Given the description of an element on the screen output the (x, y) to click on. 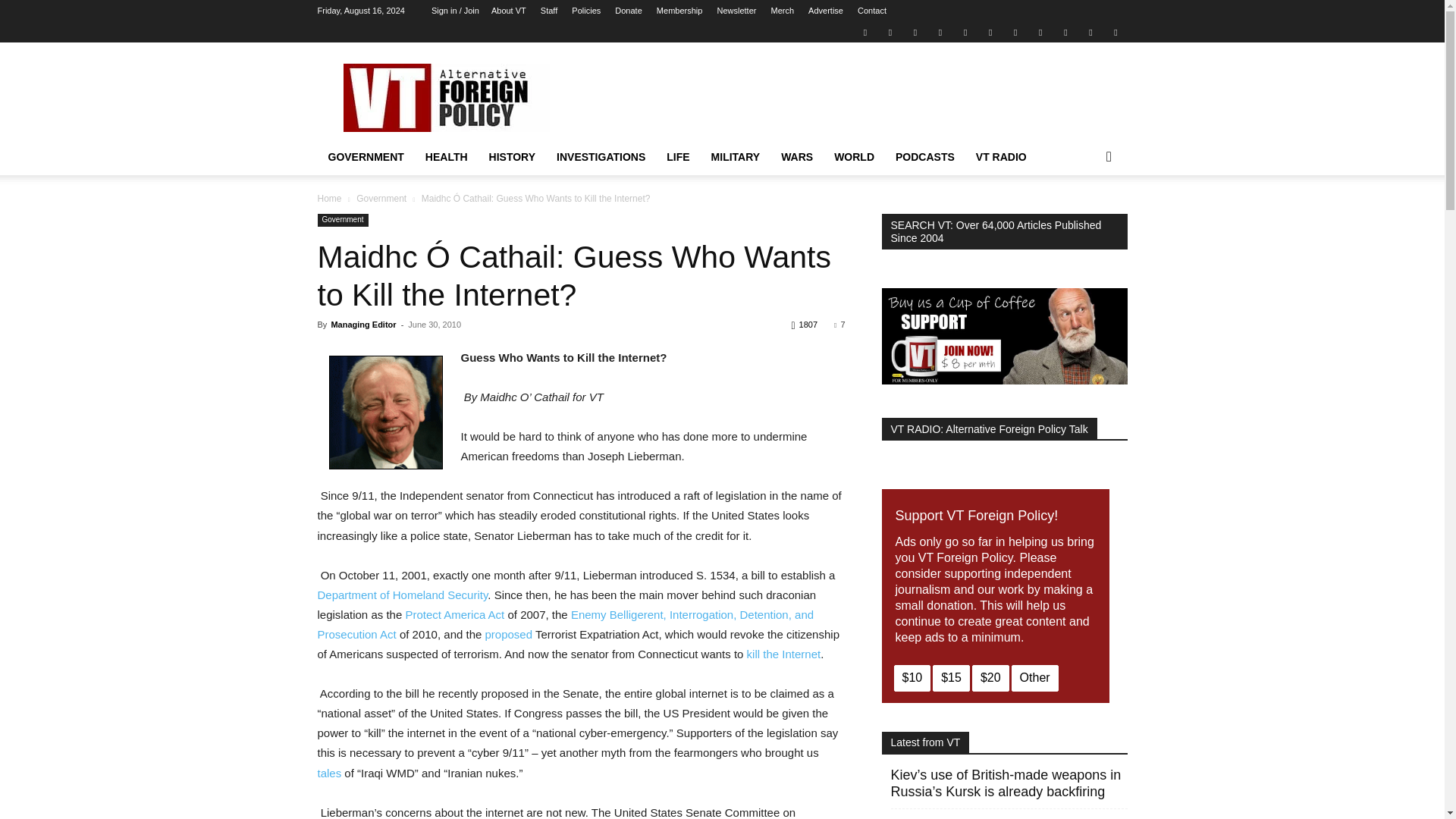
About VT (508, 10)
Rumble (964, 31)
Newsletter (735, 10)
Membership (679, 10)
Donate (628, 10)
Blogger (864, 31)
Facebook (890, 31)
Staff (548, 10)
Mail (915, 31)
Policies (585, 10)
